Given the description of an element on the screen output the (x, y) to click on. 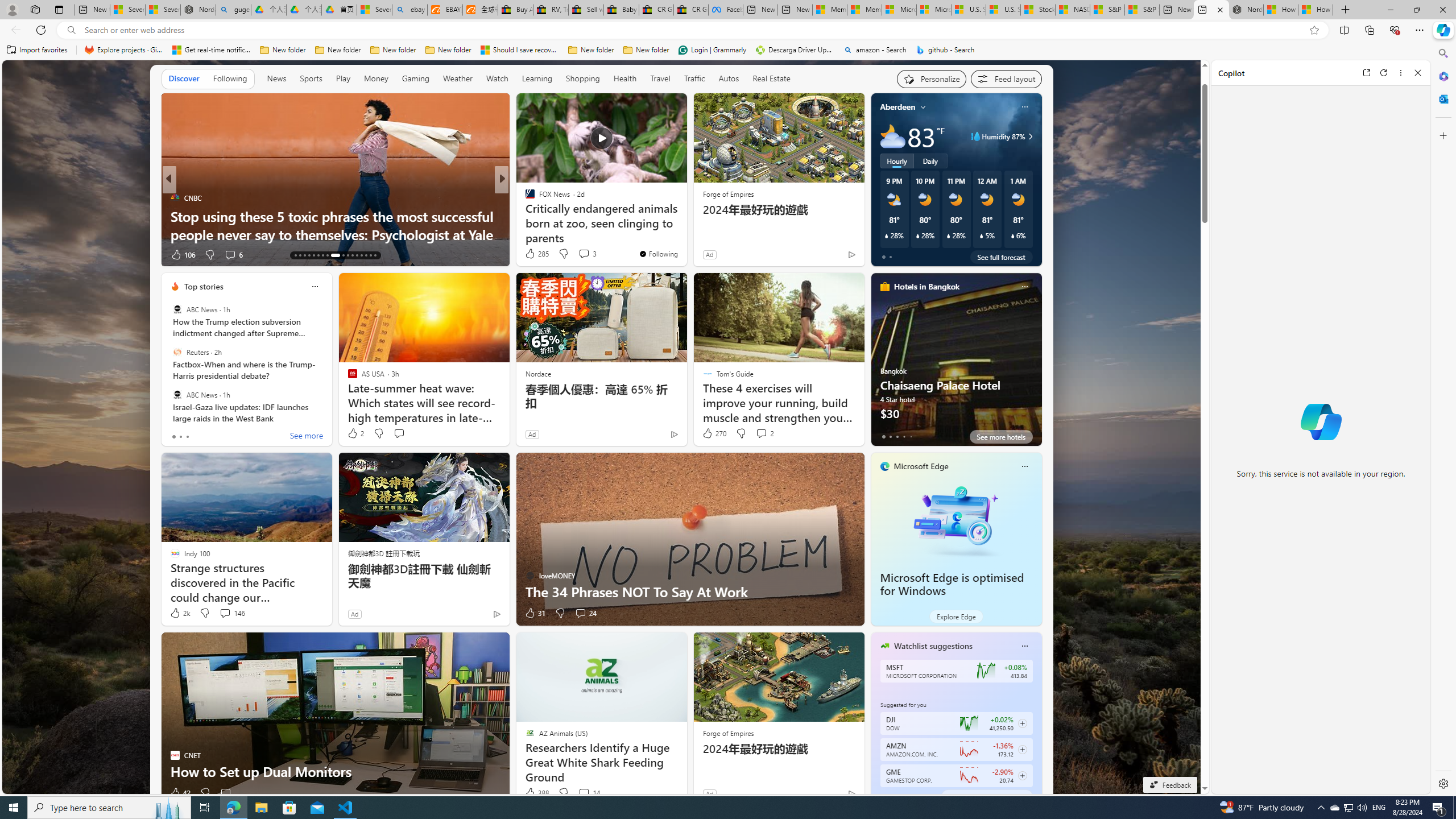
Mostly cloudy (892, 136)
Autos (729, 78)
Lifewire (174, 215)
Traffic (694, 79)
Daily (929, 160)
Hourly (896, 160)
See full forecast (1000, 256)
Customize (1442, 135)
AutomationID: tab-20 (327, 255)
